Given the description of an element on the screen output the (x, y) to click on. 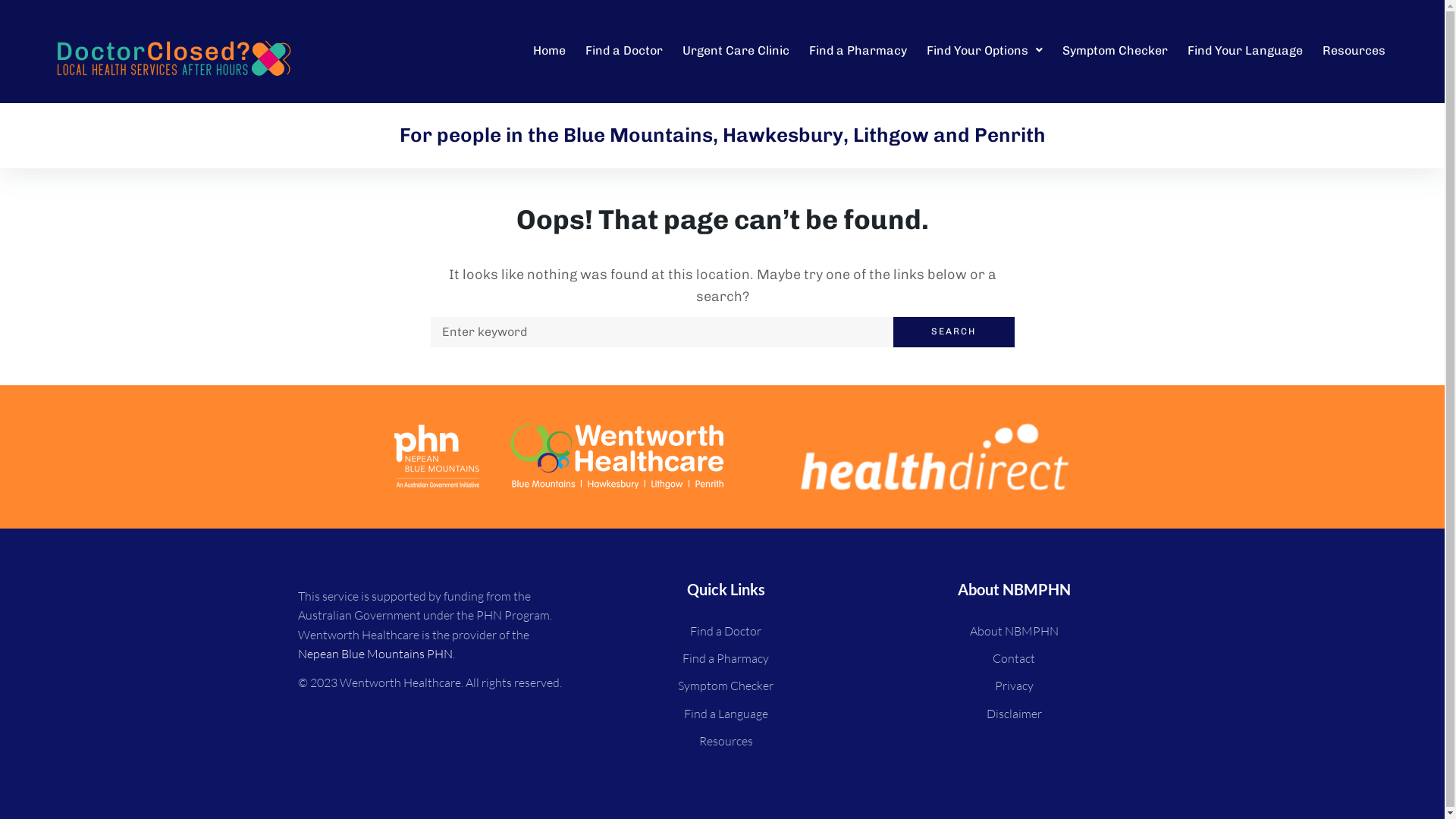
Resources Element type: text (725, 740)
Nepean Blue Mountains PHN Element type: text (374, 653)
About NBMPHN Element type: text (1013, 630)
Find a Language Element type: text (725, 713)
Contact Element type: text (1013, 657)
Find a Doctor Element type: text (725, 630)
Find a Doctor Element type: text (626, 50)
Privacy Element type: text (1013, 685)
Symptom Checker Element type: text (725, 685)
SEARCH Element type: text (953, 331)
Resources Element type: text (1356, 50)
Symptom Checker Element type: text (1117, 50)
Disclaimer Element type: text (1013, 713)
Find a Pharmacy Element type: text (861, 50)
Find Your Options Element type: text (987, 50)
Find a Pharmacy Element type: text (725, 657)
Urgent Care Clinic Element type: text (738, 50)
Home Element type: text (552, 50)
Find Your Language Element type: text (1247, 50)
